Given the description of an element on the screen output the (x, y) to click on. 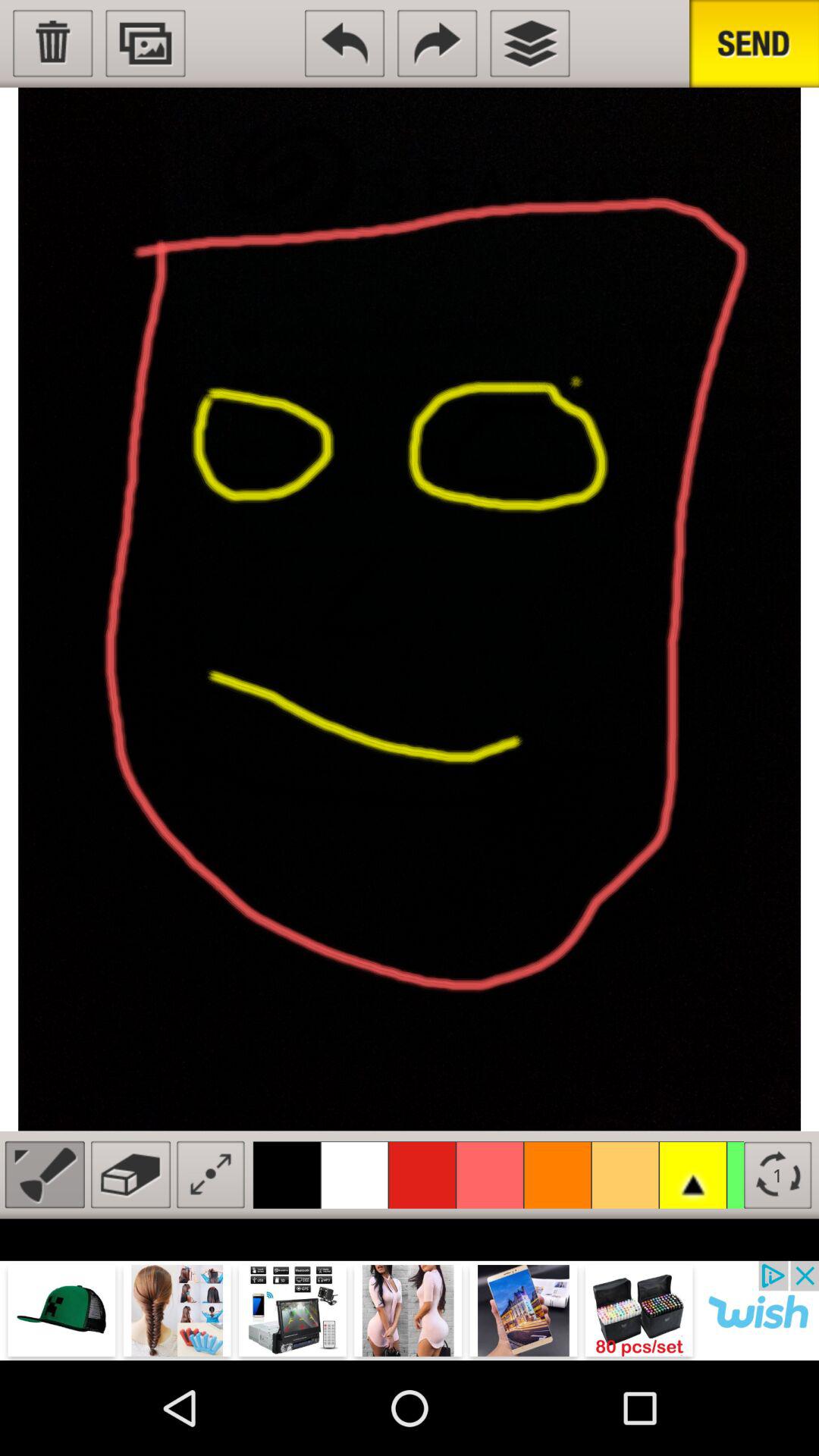
visit advertiser (409, 1310)
